Given the description of an element on the screen output the (x, y) to click on. 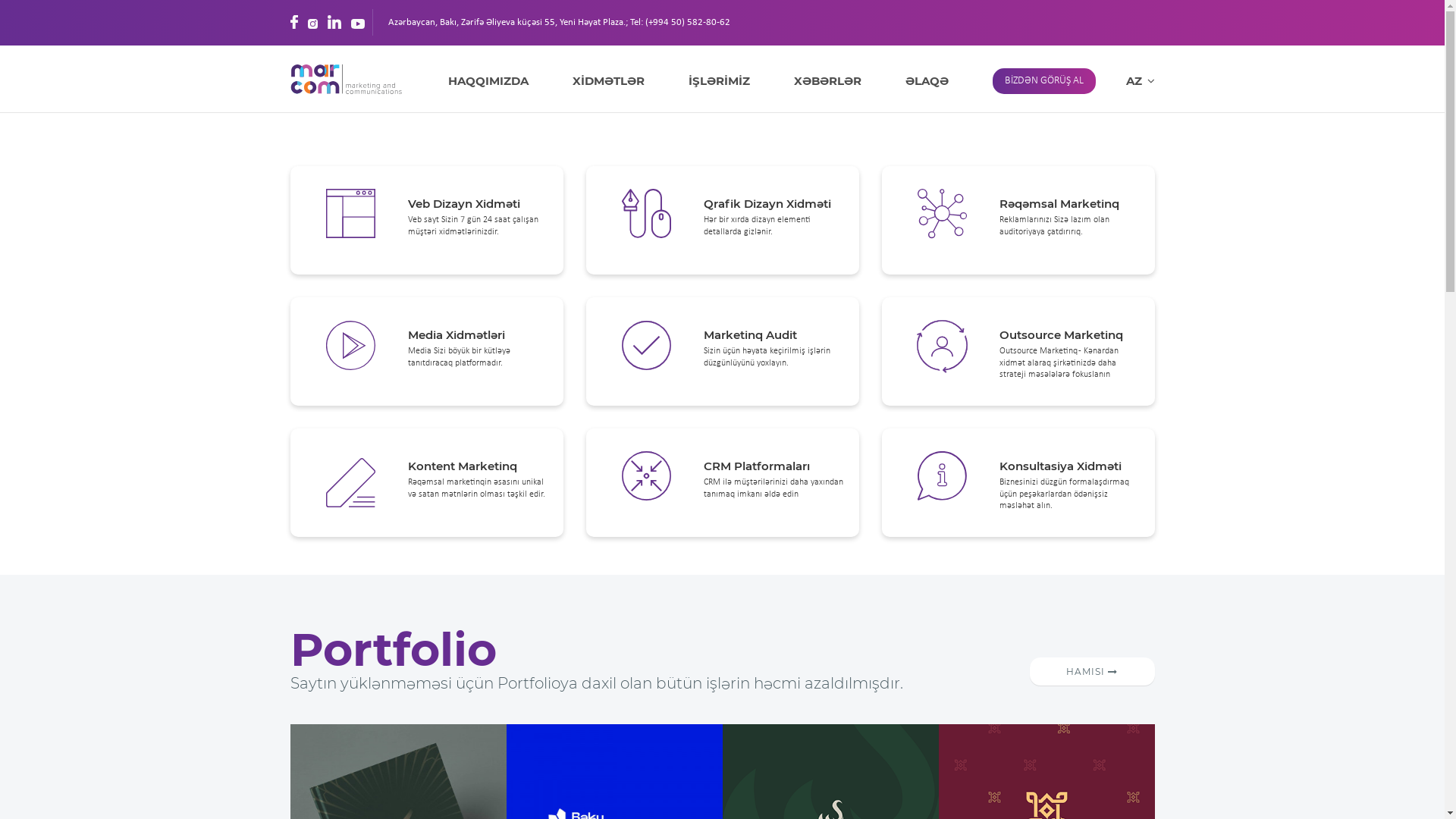
facebook Element type: hover (293, 21)
instagram Element type: hover (312, 21)
youtube Element type: hover (357, 21)
linkedin Element type: hover (334, 21)
HAMISI Element type: text (1091, 671)
HAQQIMIZDA Element type: text (487, 81)
